Given the description of an element on the screen output the (x, y) to click on. 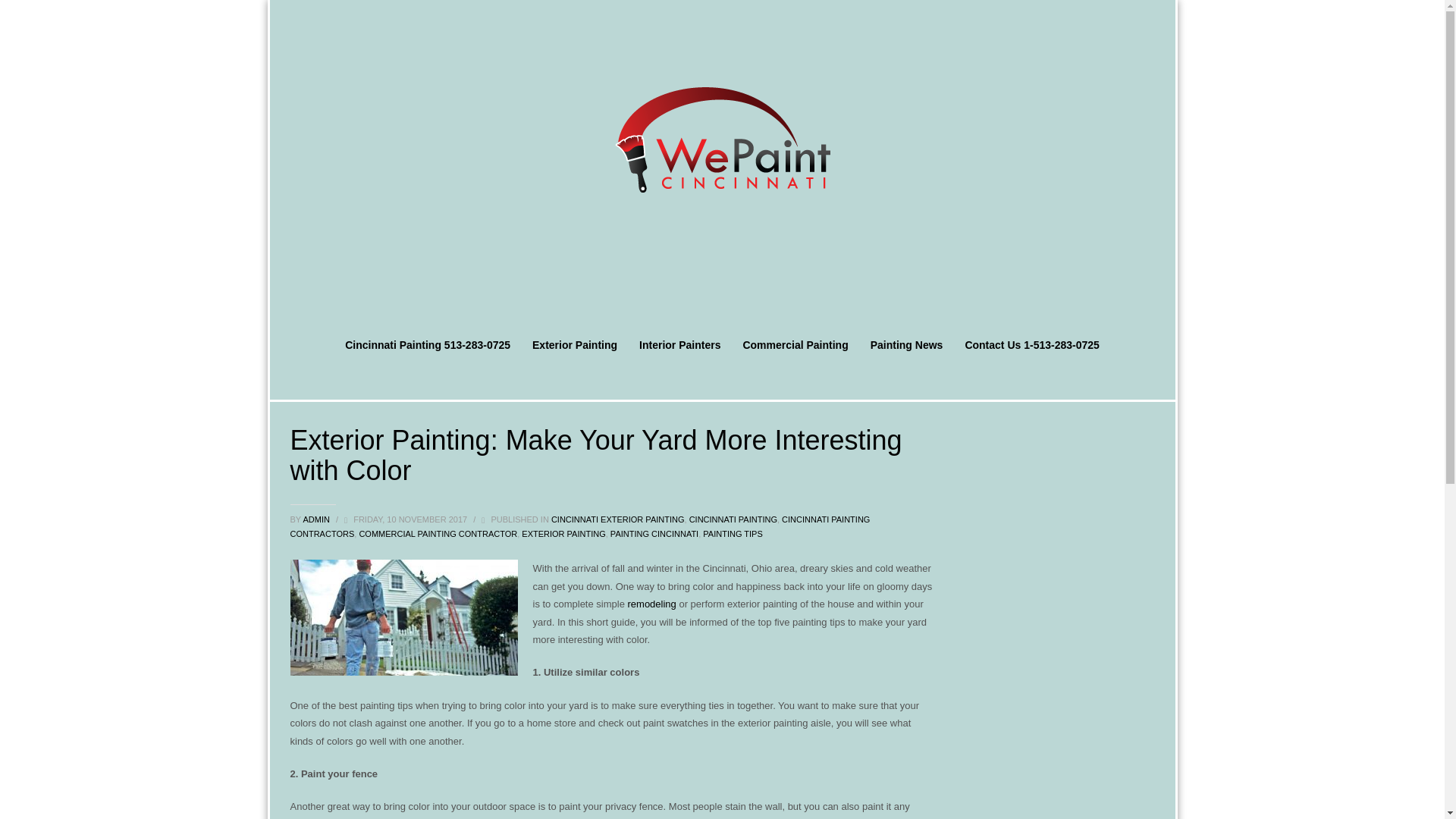
Cincinnati Painting 513-283-0725 (427, 344)
CINCINNATI PAINTING (732, 519)
remodeling (652, 603)
Interior Painters (679, 344)
We Paint Cincinnati (721, 138)
PAINTING CINCINNATI (654, 533)
Painting News (906, 344)
COMMERCIAL PAINTING CONTRACTOR (437, 533)
CINCINNATI PAINTING CONTRACTORS (579, 526)
PAINTING TIPS (732, 533)
Exterior Painting (574, 344)
Commercial Painting (795, 344)
Contact Us 1-513-283-0725 (1031, 344)
EXTERIOR PAINTING (563, 533)
ADMIN (316, 519)
